Given the description of an element on the screen output the (x, y) to click on. 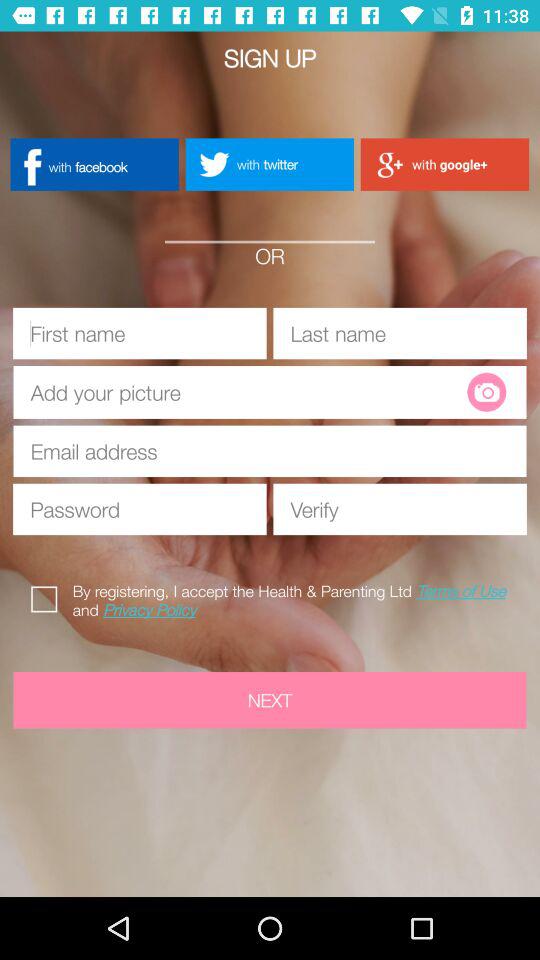
launch the item to the left of with google+ button (269, 164)
